Given the description of an element on the screen output the (x, y) to click on. 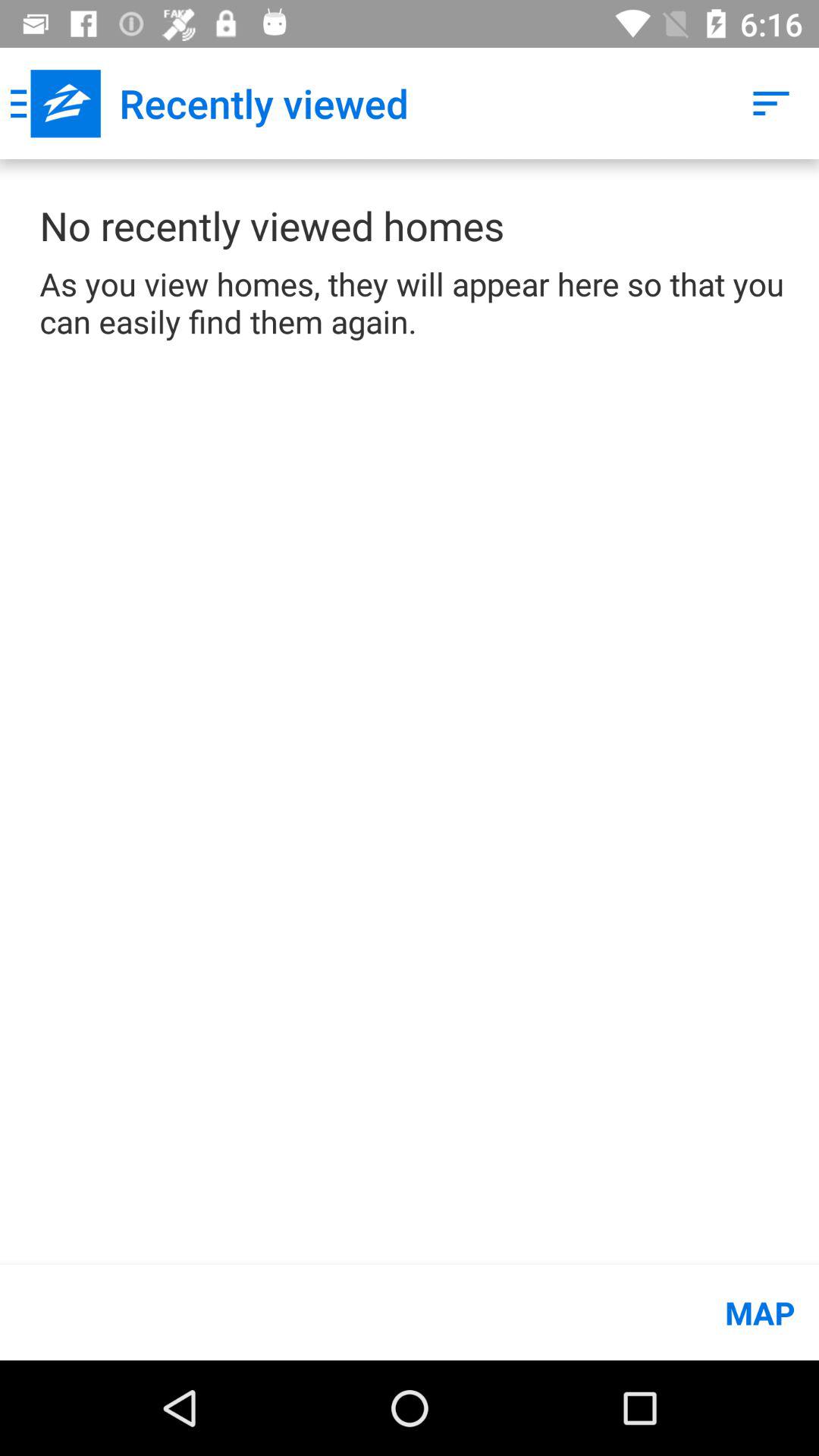
click item to the right of the no recently viewed (771, 103)
